Given the description of an element on the screen output the (x, y) to click on. 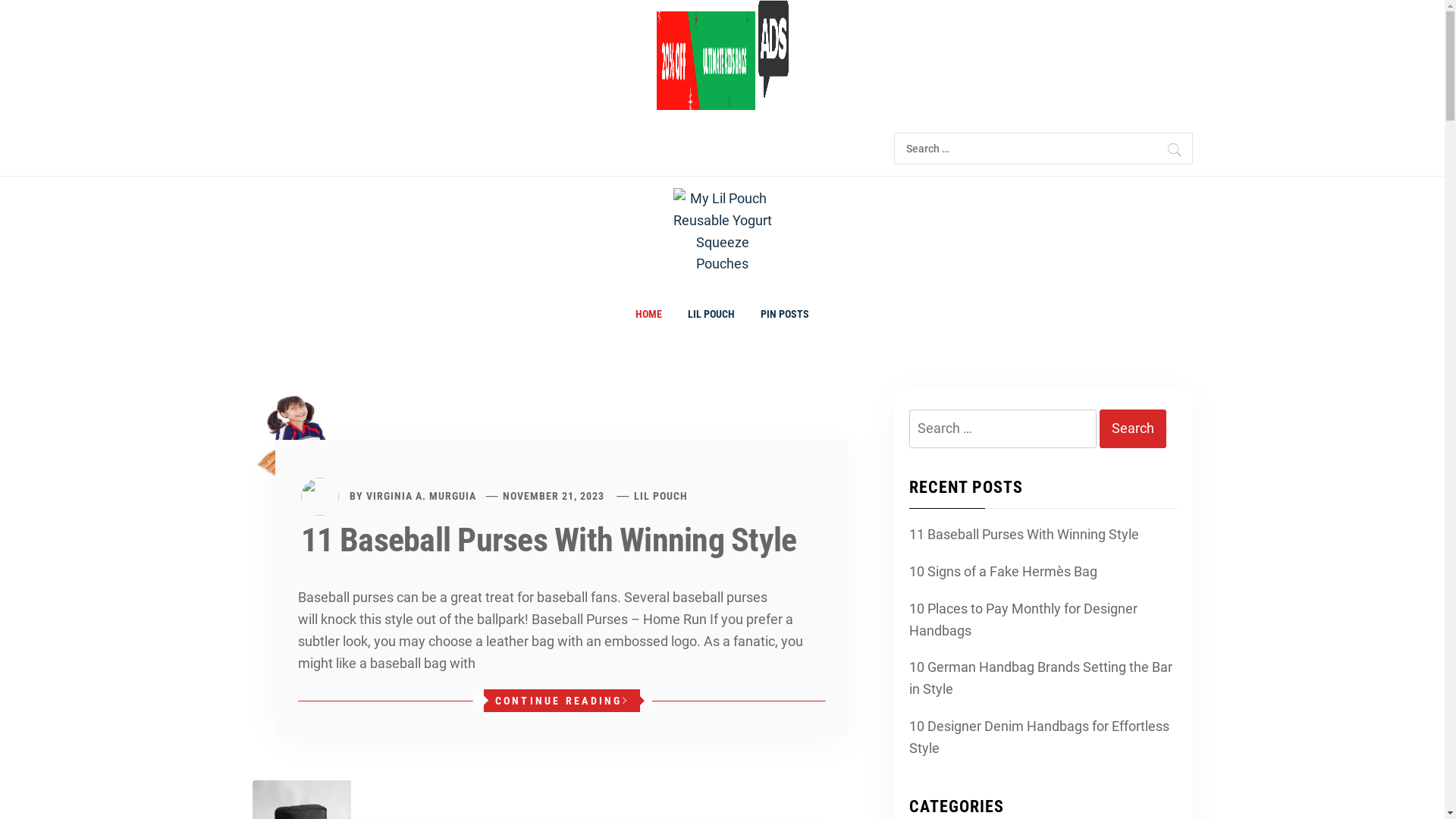
PIN POSTS Element type: text (784, 313)
11 Baseball Purses With Winning Style Element type: text (1022, 535)
HOME Element type: text (648, 313)
10 German Handbag Brands Setting the Bar in Style Element type: text (1040, 678)
LIL POUCH Element type: text (660, 495)
Search Element type: text (1132, 428)
10 Places to Pay Monthly for Designer Handbags Element type: text (1040, 620)
CONTINUE READING Element type: text (561, 700)
11 Baseball Purses With Winning Style Element type: text (548, 539)
11 Baseball Purses With Winning Style Element type: hover (300, 434)
Search Element type: text (1174, 150)
10 Designer Denim Handbags for Effortless Style Element type: text (1040, 737)
LIL POUCH Element type: text (711, 313)
NOVEMBER 21, 2023 Element type: text (553, 495)
VIRGINIA A. MURGUIA Element type: text (420, 495)
